Given the description of an element on the screen output the (x, y) to click on. 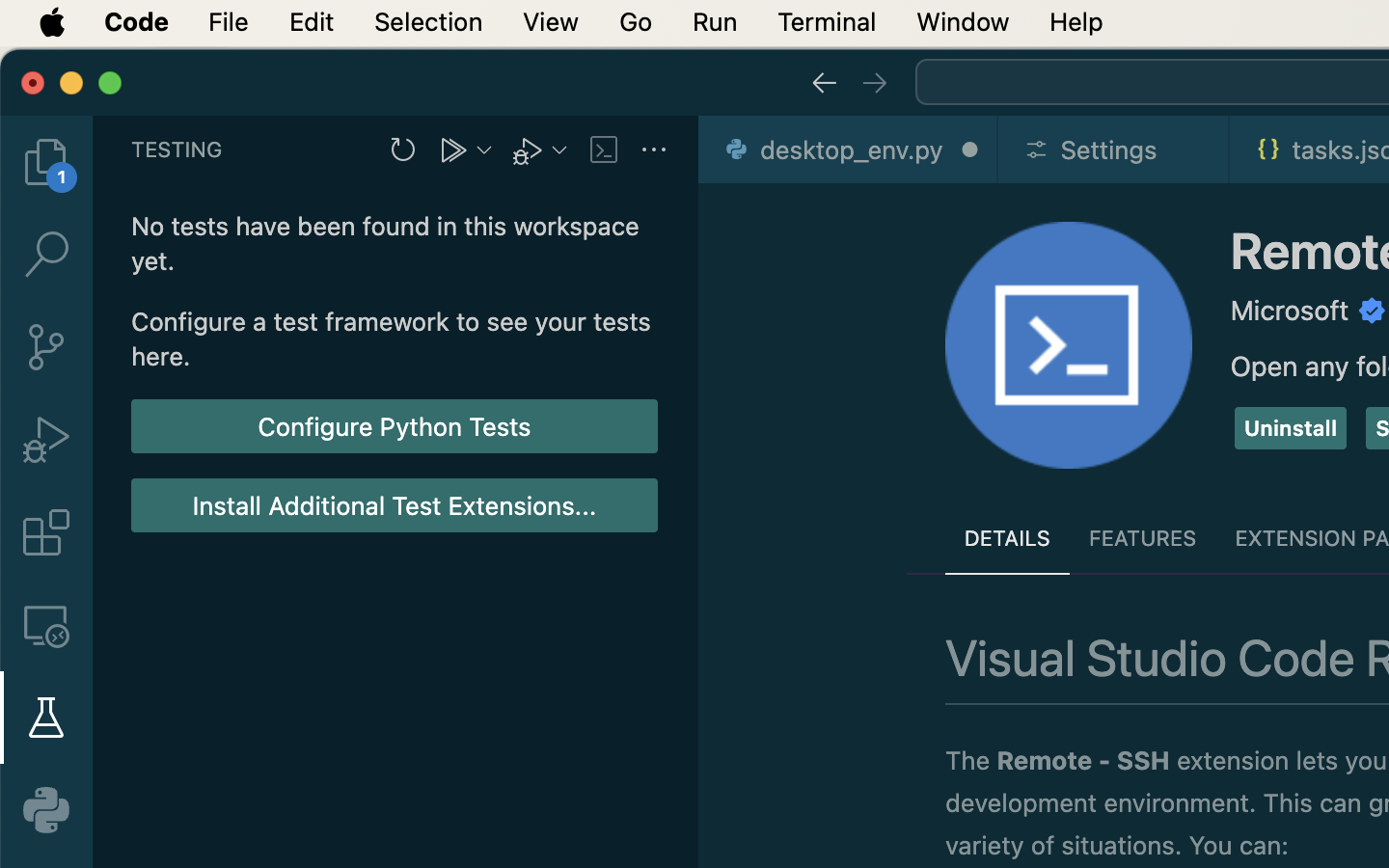
 Element type: AXButton (874, 82)
 Element type: AXStaticText (1372, 310)
0 desktop_env.py   Element type: AXRadioButton (848, 149)
Remote - SSH Element type: AXStaticText (1083, 760)
0  Element type: AXRadioButton (46, 532)
